Given the description of an element on the screen output the (x, y) to click on. 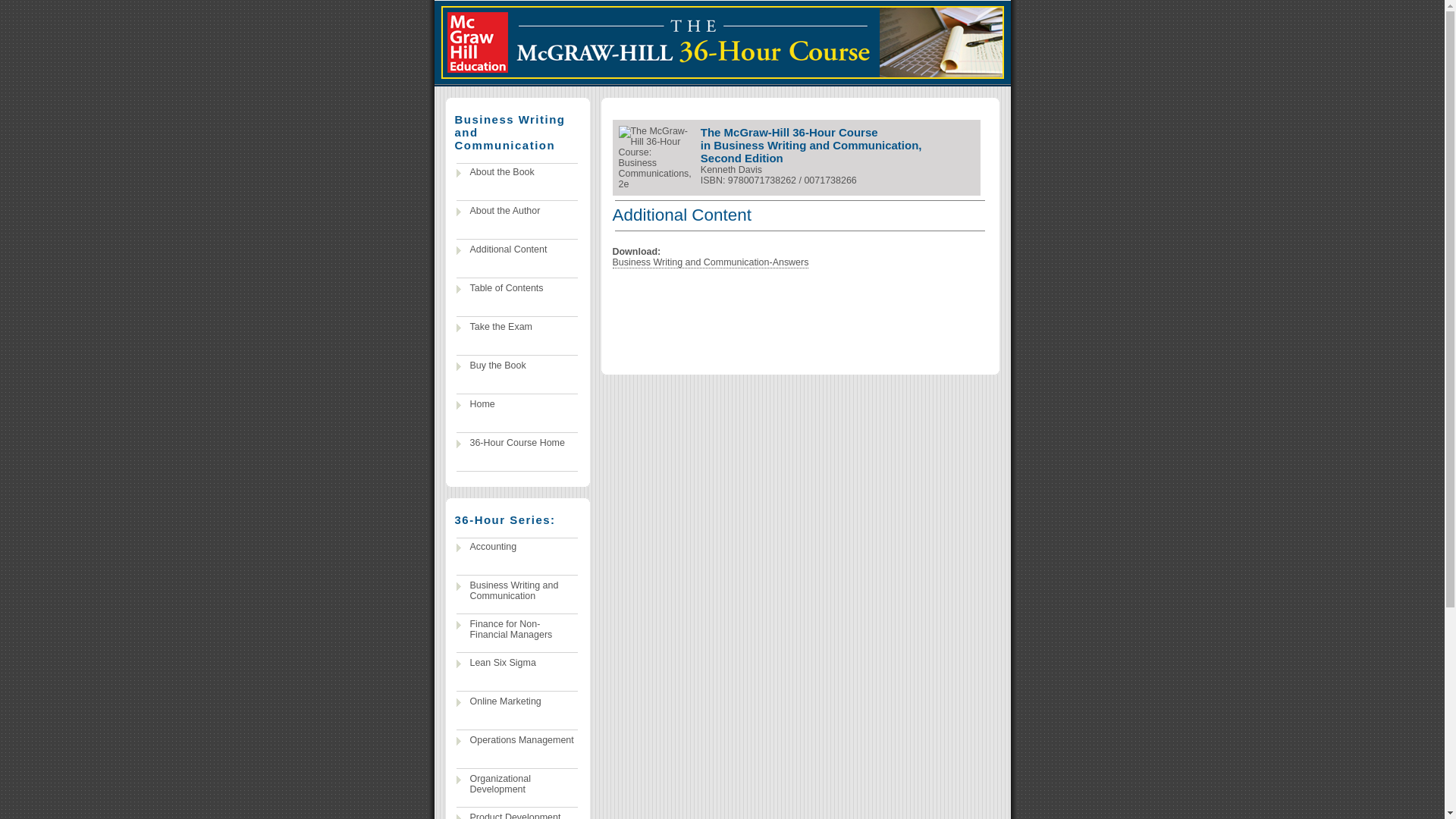
Operations Management Element type: text (516, 740)
36-Hour Course Home Element type: text (516, 443)
Home Element type: text (516, 404)
About the Book Element type: text (516, 172)
Business Writing and Communication-Answers Element type: text (710, 262)
Additional Content Element type: text (516, 250)
Finance for Non-Financial Managers Element type: text (516, 624)
Take the Exam Element type: text (516, 327)
Business Writing and Communication Element type: text (516, 586)
About the Author Element type: text (516, 211)
Lean Six Sigma Element type: text (516, 663)
Accounting Element type: text (516, 547)
Buy the Book Element type: text (516, 366)
Online Marketing Element type: text (516, 702)
Table of Contents Element type: text (516, 288)
Organizational Development Element type: text (516, 779)
